Given the description of an element on the screen output the (x, y) to click on. 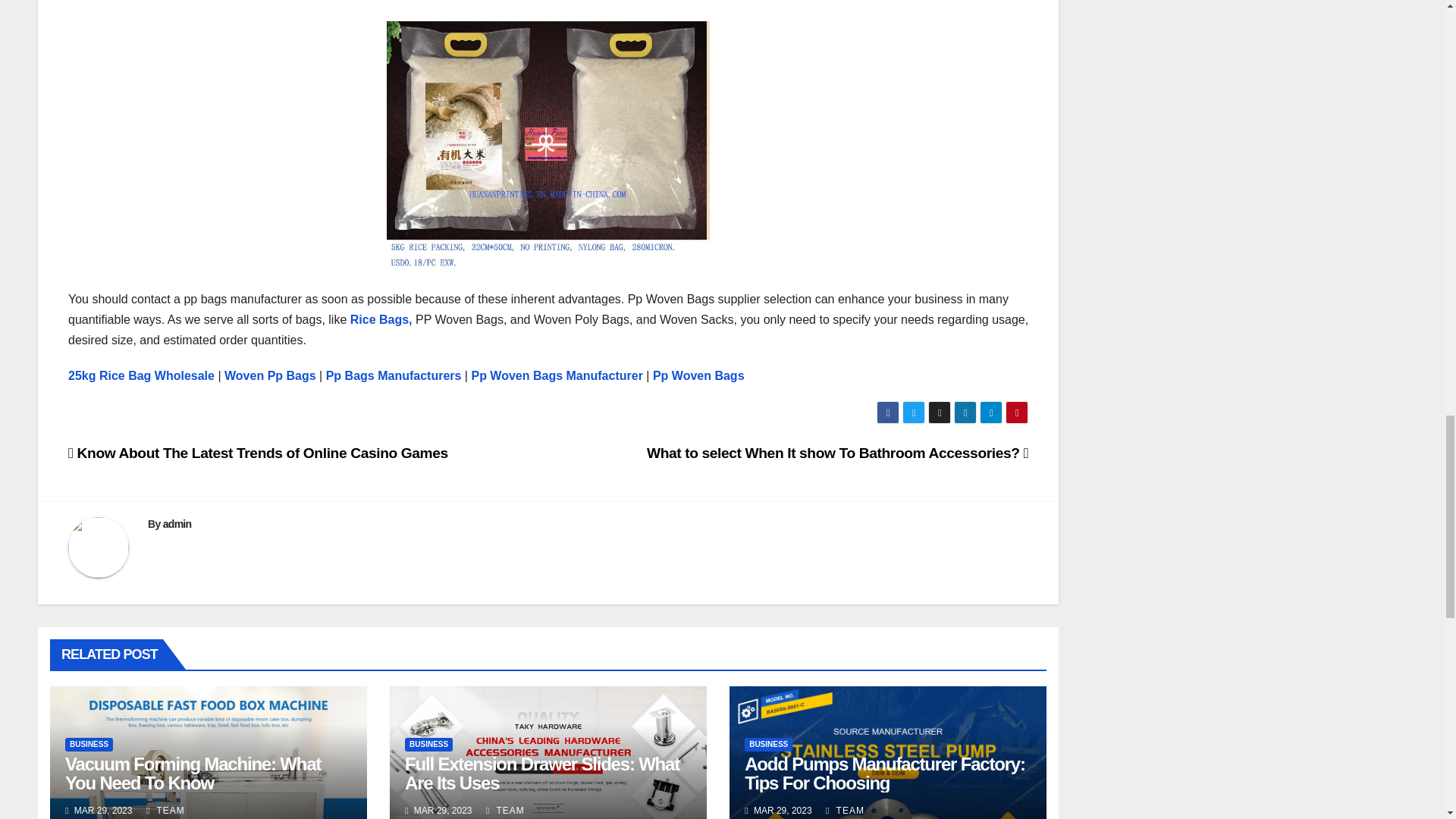
Pp Bags Manufacturers (395, 375)
What to select When It show To Bathroom Accessories? (836, 453)
Permalink to: Vacuum Forming Machine: What You Need To Know (192, 773)
Pp Woven Bags (698, 375)
Woven Pp Bags (268, 375)
Pp Woven Bags Manufacturer (556, 375)
25kg Rice Bag Wholesale (141, 375)
Know About The Latest Trends of Online Casino Games (258, 453)
admin (177, 523)
Rice Bags, (381, 318)
